Given the description of an element on the screen output the (x, y) to click on. 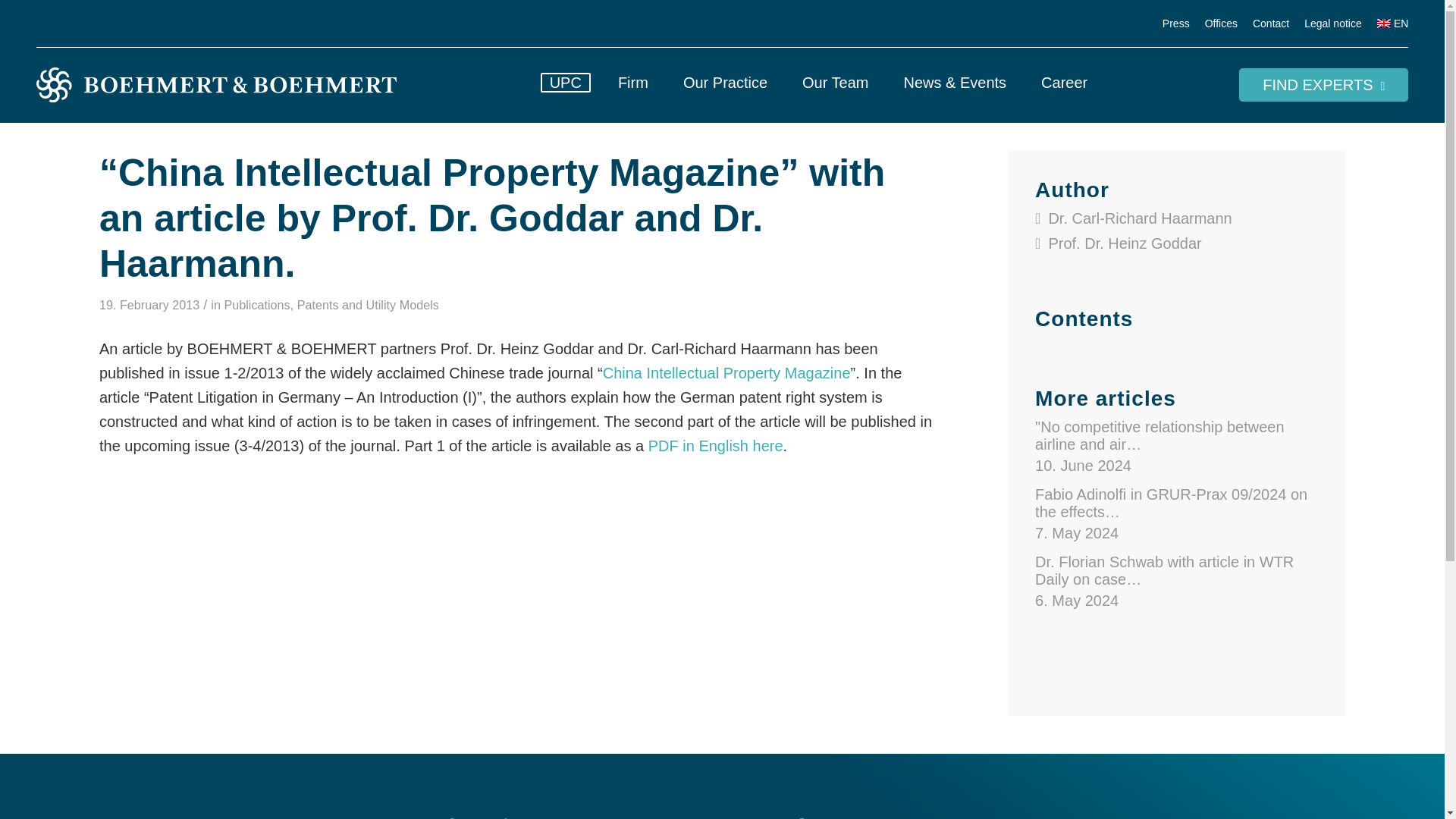
UPC (565, 84)
Legal notice (1332, 23)
Prof. Dr. Heinz Goddar (1124, 243)
Our Team (834, 84)
Firm (632, 84)
Dr. Carl-Richard Haarmann (1139, 217)
Career (1064, 84)
EN (1393, 23)
Our Practice (724, 84)
EN (1393, 23)
FIND EXPERTS (1323, 84)
Offices (1221, 23)
Contact (1270, 23)
Press (1175, 23)
